Given the description of an element on the screen output the (x, y) to click on. 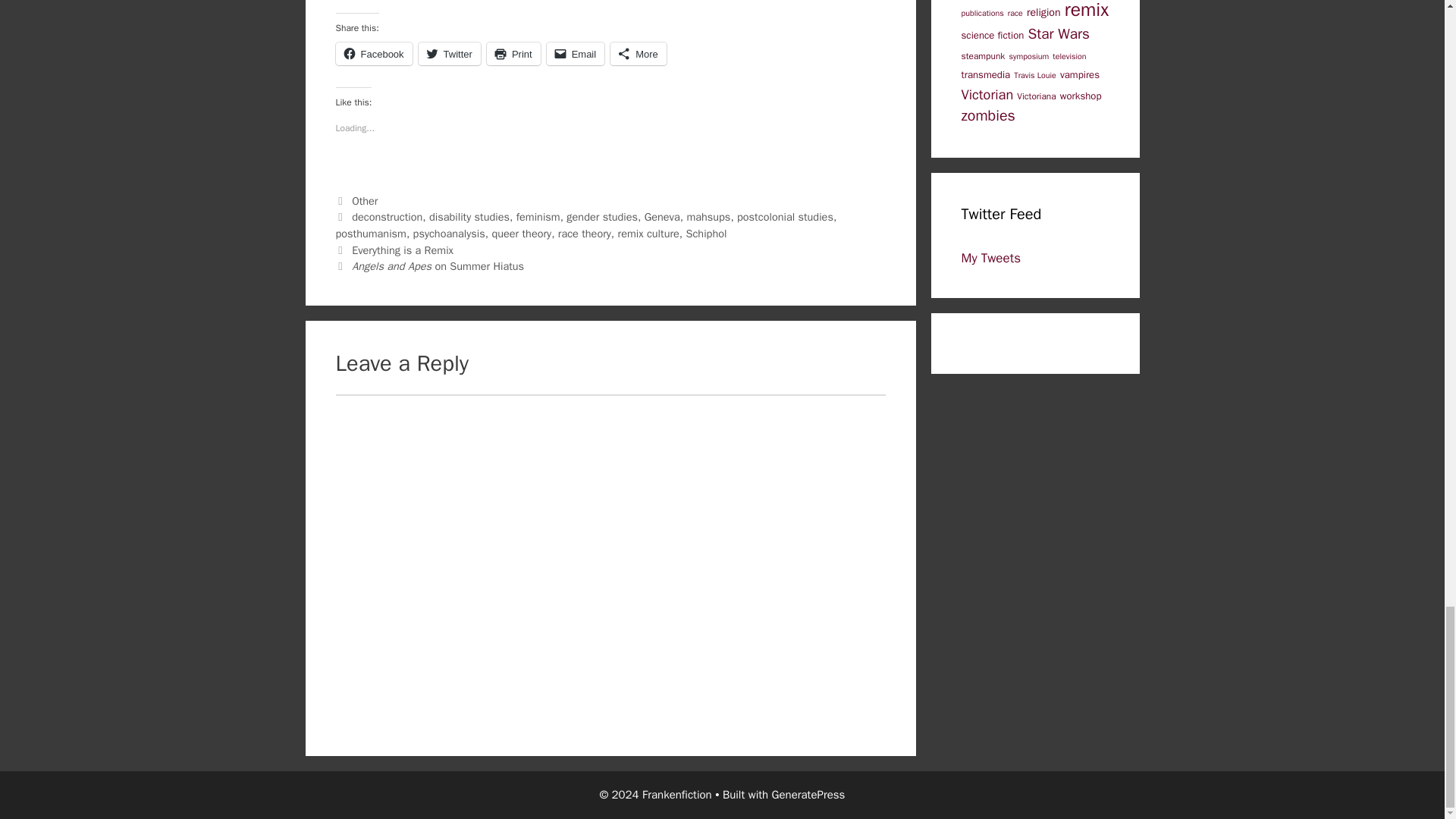
More (638, 53)
feminism (538, 216)
Click to print (513, 53)
Click to email a link to a friend (576, 53)
Click to share on Twitter (449, 53)
Facebook (373, 53)
Geneva (662, 216)
disability studies (469, 216)
posthumanism (370, 233)
Click to share on Facebook (373, 53)
psychoanalysis (448, 233)
Print (513, 53)
postcolonial studies (784, 216)
gender studies (601, 216)
